Given the description of an element on the screen output the (x, y) to click on. 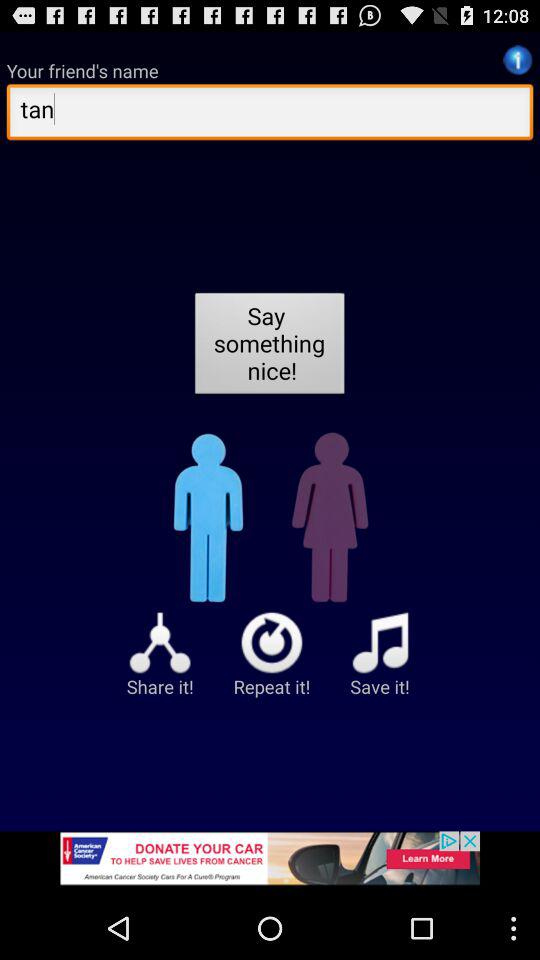
advertisement (270, 864)
